Given the description of an element on the screen output the (x, y) to click on. 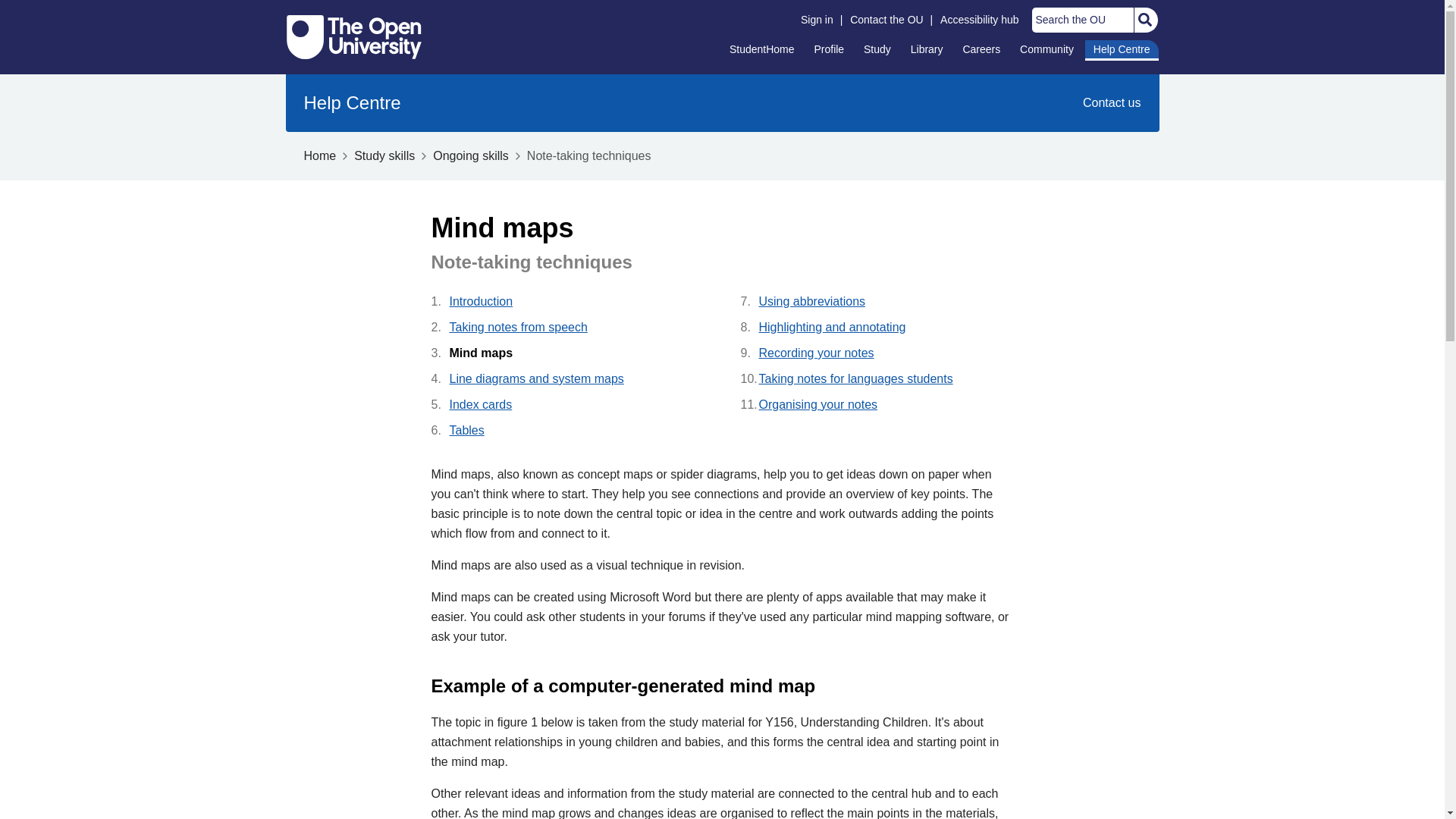
Library (927, 49)
Index cards (575, 404)
The Open University (354, 36)
Ongoing skills (470, 155)
Search (1144, 19)
Taking notes from speech (575, 327)
Contact the OU (886, 19)
Careers (981, 49)
Help Centre (351, 102)
Recording your notes (885, 353)
Search (1144, 19)
Taking notes for languages students (885, 379)
Line diagrams and system maps (575, 379)
Highlighting and annotating (885, 327)
Help Centre (1121, 50)
